Given the description of an element on the screen output the (x, y) to click on. 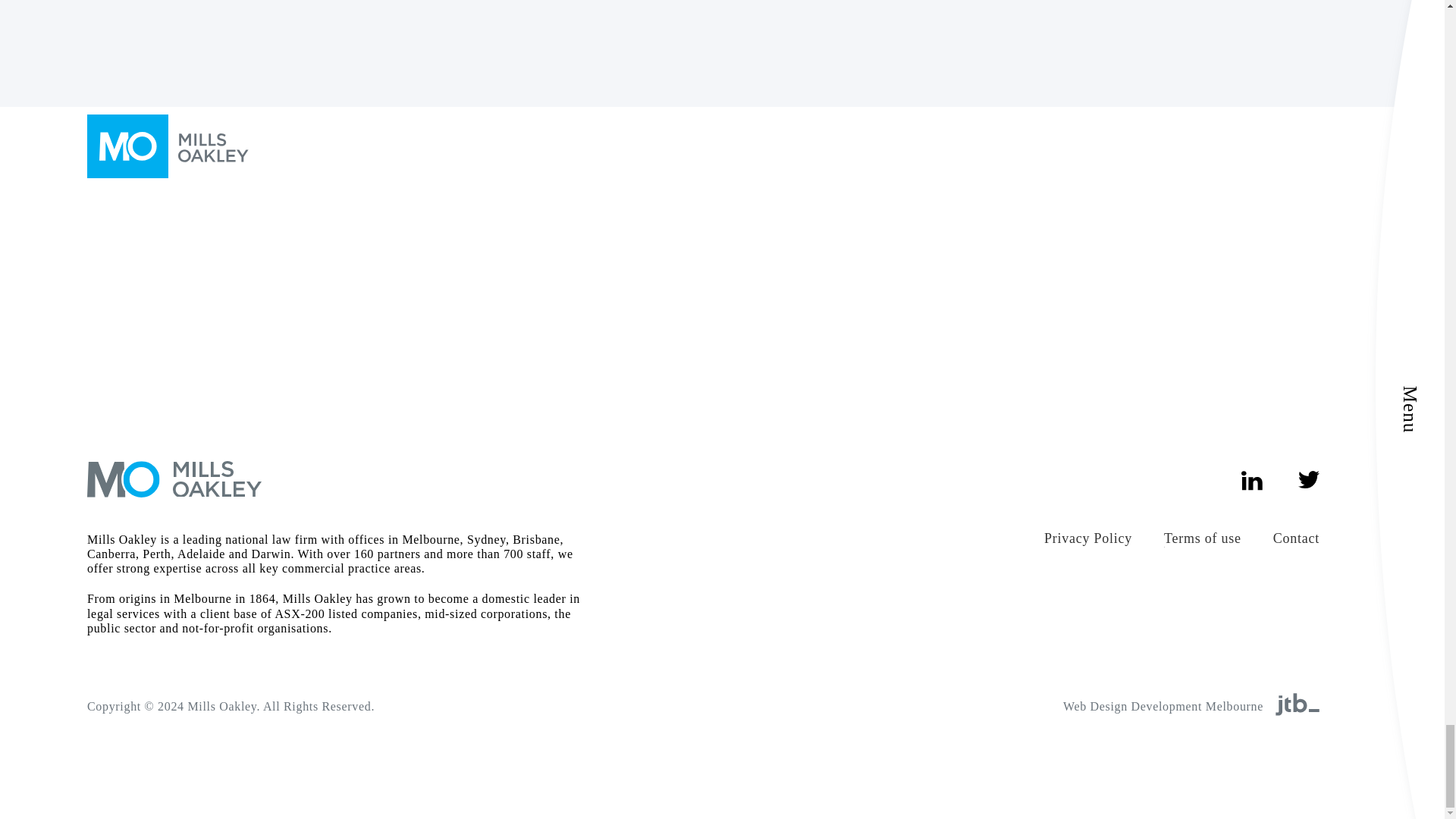
Contact (1295, 538)
Web Design Development Melbourne (1162, 706)
Join Now (950, 24)
Privacy Policy (1087, 538)
Terms of use (1202, 538)
